Given the description of an element on the screen output the (x, y) to click on. 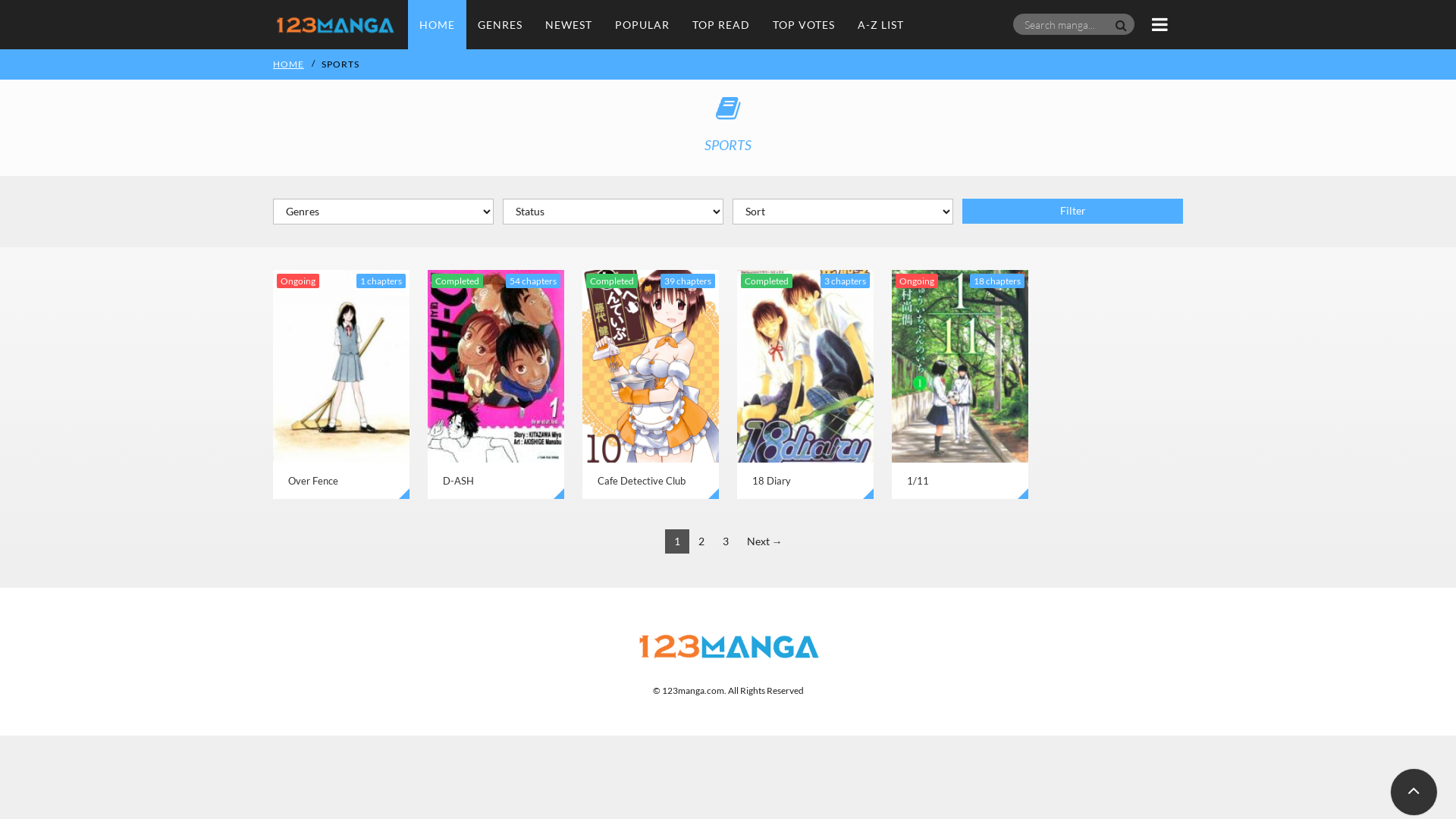
18 Diary Element type: text (805, 383)
2 Element type: text (700, 541)
3 Element type: text (724, 541)
GENRES Element type: text (499, 24)
1/11 Element type: text (959, 383)
D-ASH Element type: text (495, 383)
HOME Element type: text (290, 63)
A-Z LIST Element type: text (880, 24)
Over Fence Element type: text (341, 383)
NEWEST Element type: text (568, 24)
TOP VOTES Element type: text (803, 24)
Filter Element type: text (1072, 210)
Cafe Detective Club Element type: text (650, 383)
TOP READ Element type: text (720, 24)
POPULAR Element type: text (641, 24)
SPORTS Element type: text (342, 63)
HOME Element type: text (436, 24)
